Given the description of an element on the screen output the (x, y) to click on. 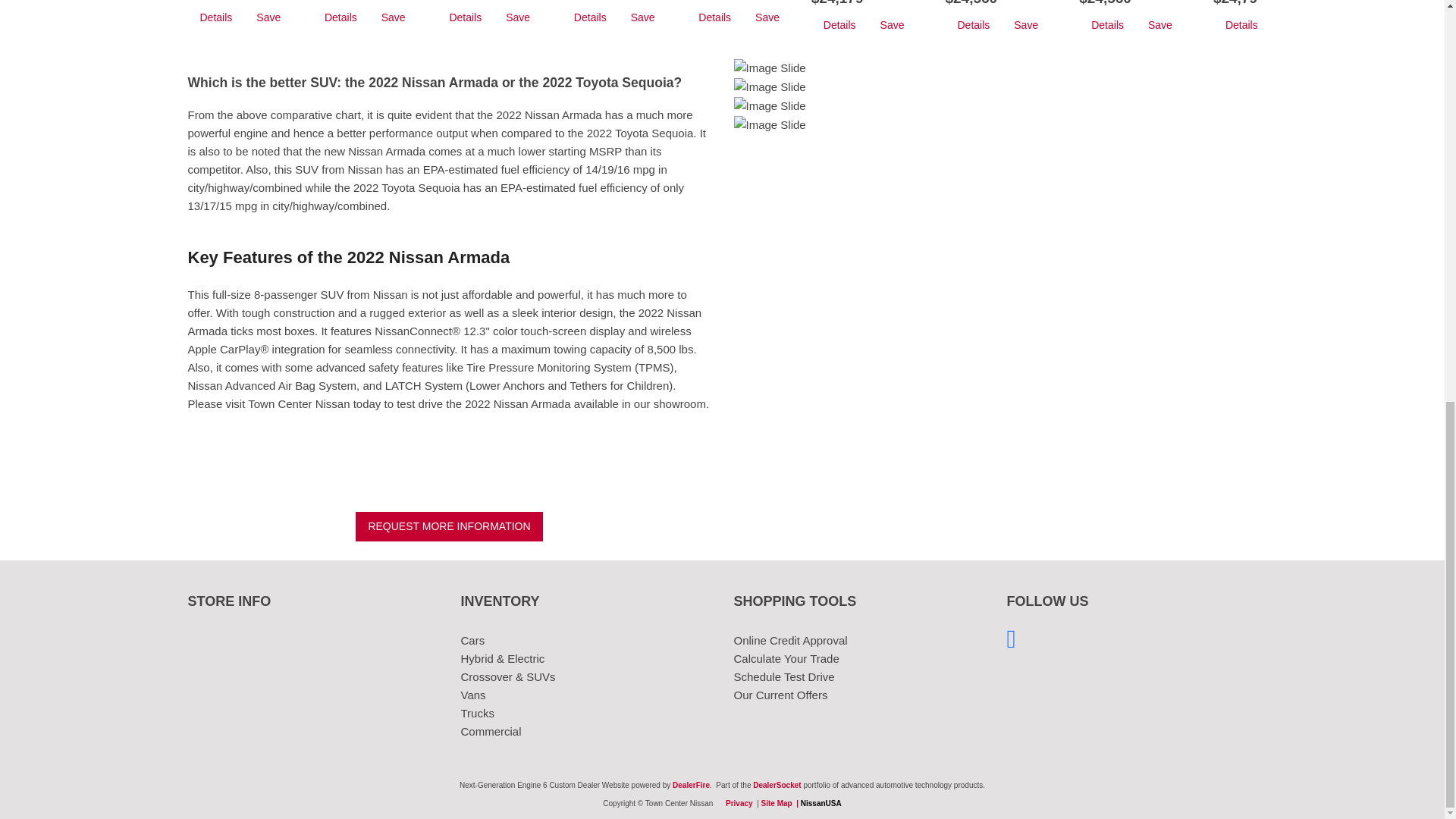
Image Slide (769, 67)
Image Slide (769, 106)
Image Slide (769, 86)
Image Slide (769, 125)
